Given the description of an element on the screen output the (x, y) to click on. 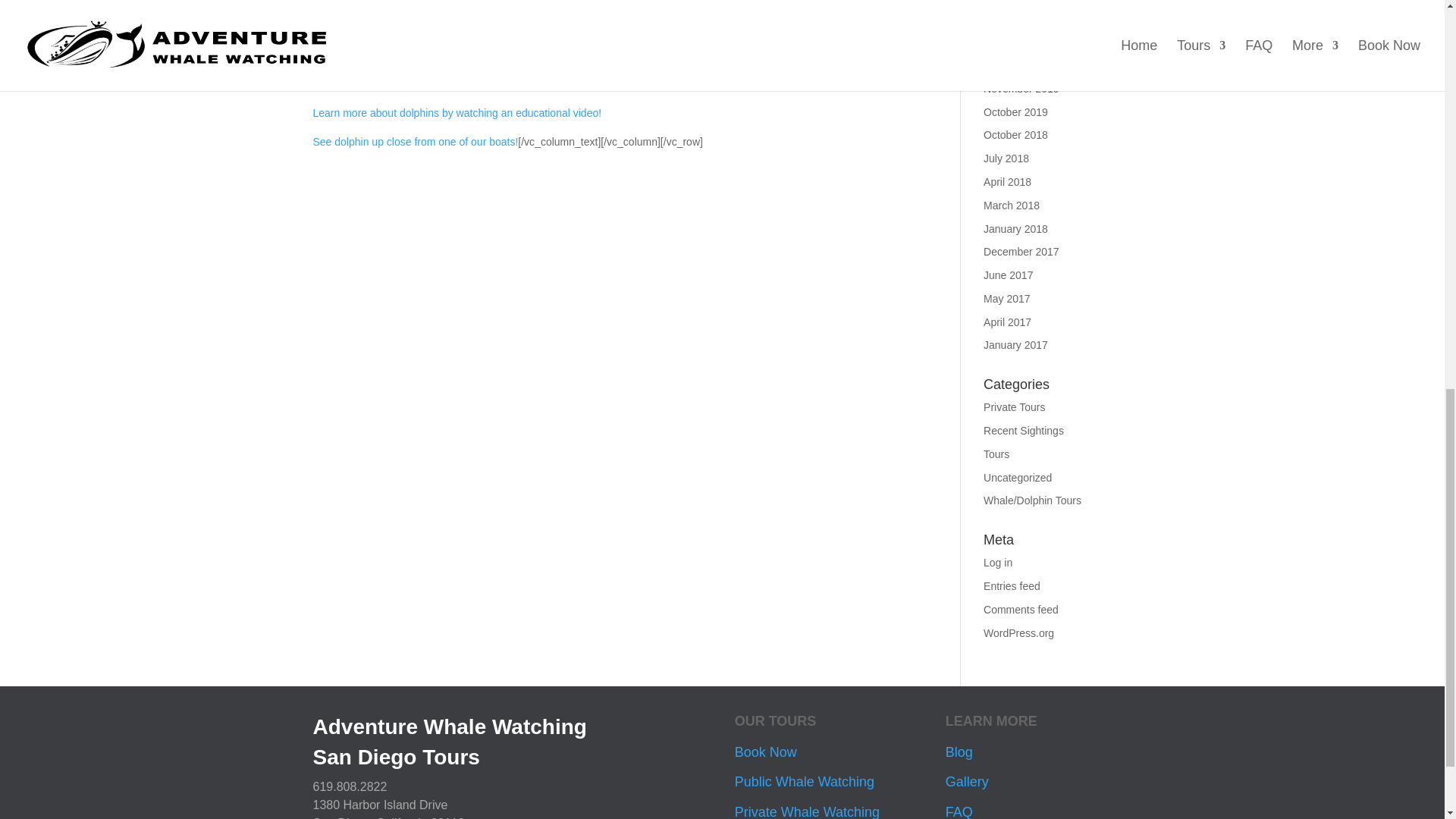
See dolphin up close from one of our boats! (415, 141)
Book Now (765, 752)
Private Whale Watching (807, 811)
Learn more about dolphins by watching an educational video! (457, 112)
Blog (958, 752)
Gallery (966, 781)
Public Whale Watching (805, 781)
FAQ (958, 811)
